Given the description of an element on the screen output the (x, y) to click on. 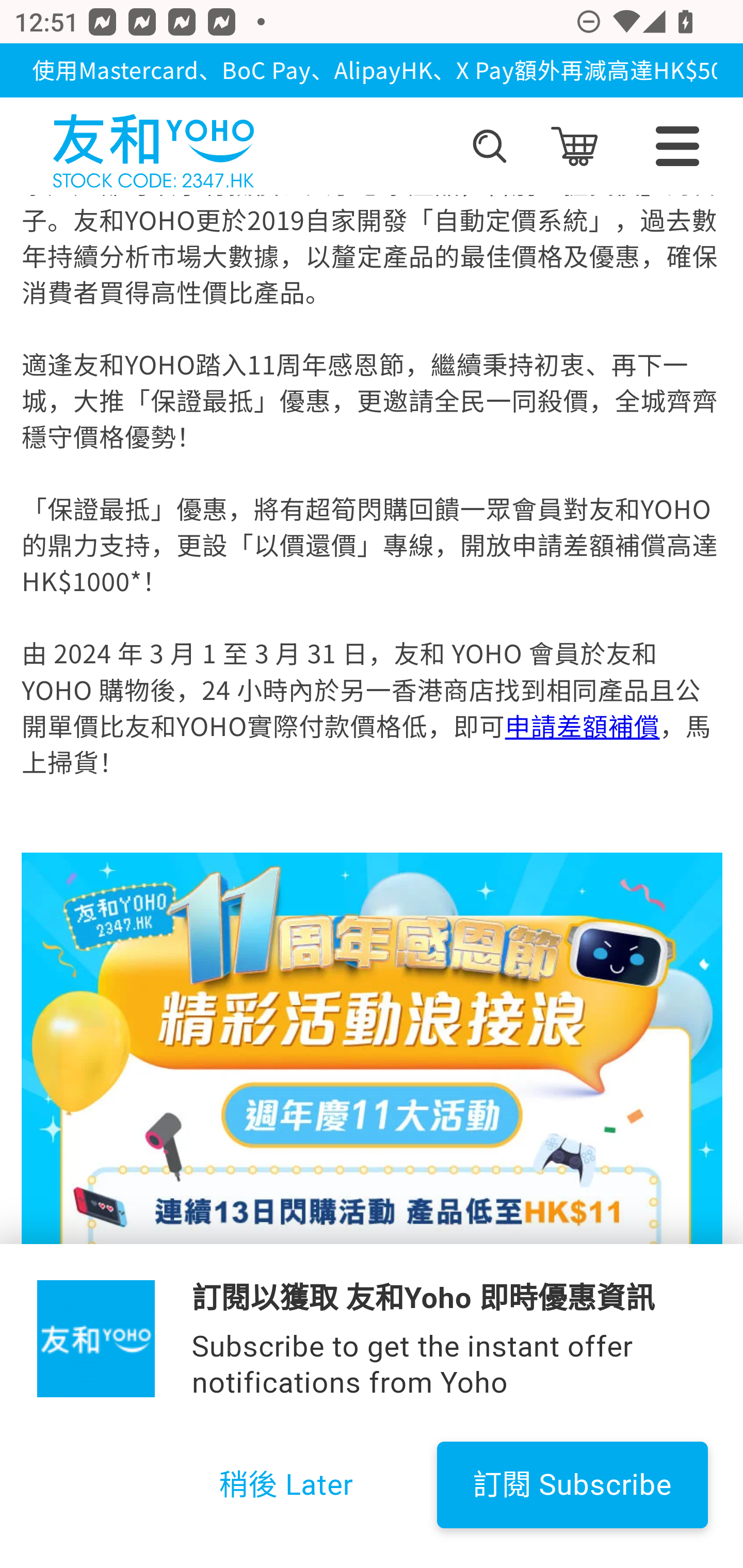
cart (574, 146)
友和 YOHO (153, 146)
申請差額補償 (582, 726)
